Given the description of an element on the screen output the (x, y) to click on. 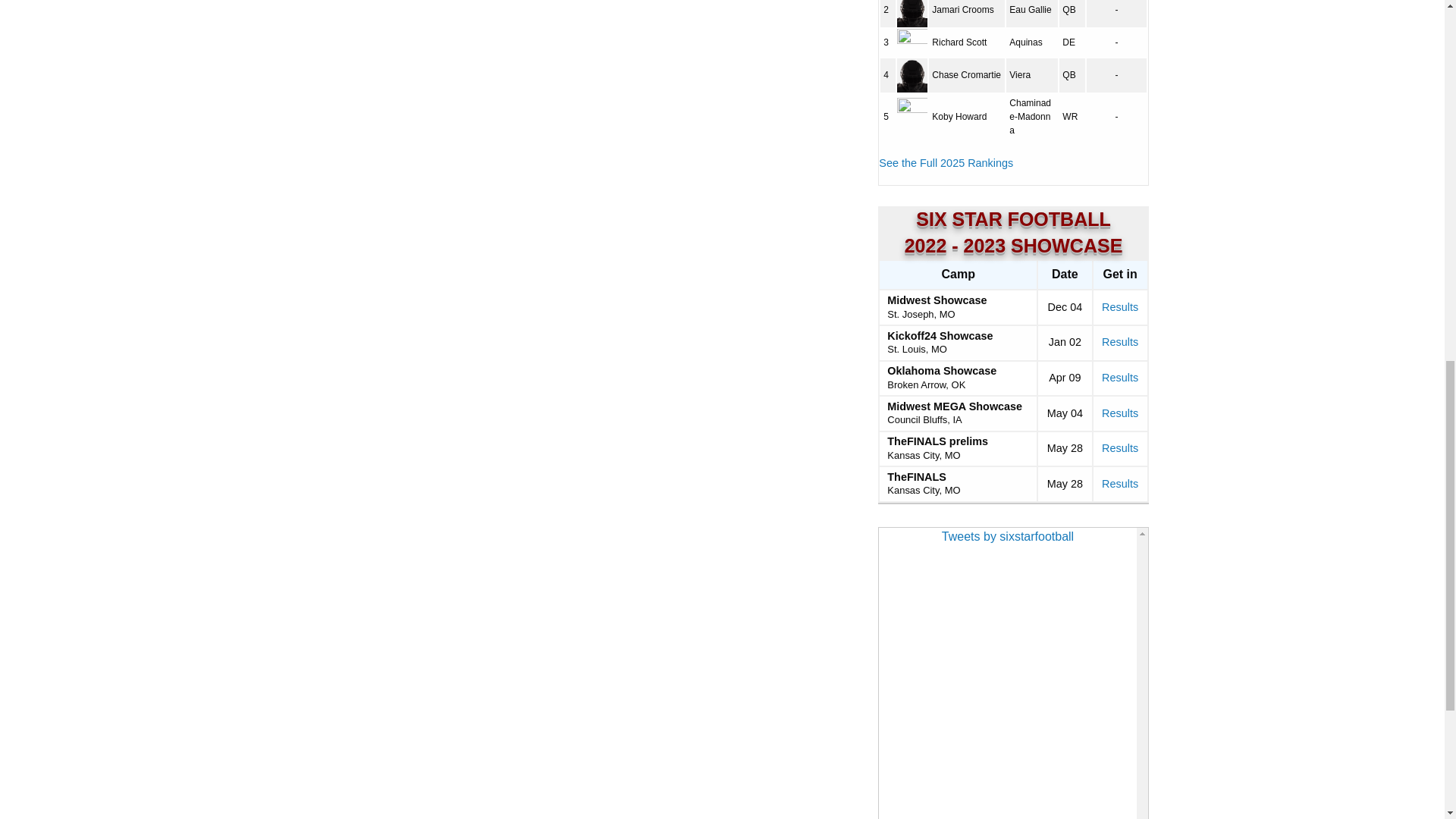
2025 Rankings (946, 162)
Results (1120, 341)
Results (1120, 306)
Results (1120, 377)
Results (1120, 448)
Results (1120, 413)
